Given the description of an element on the screen output the (x, y) to click on. 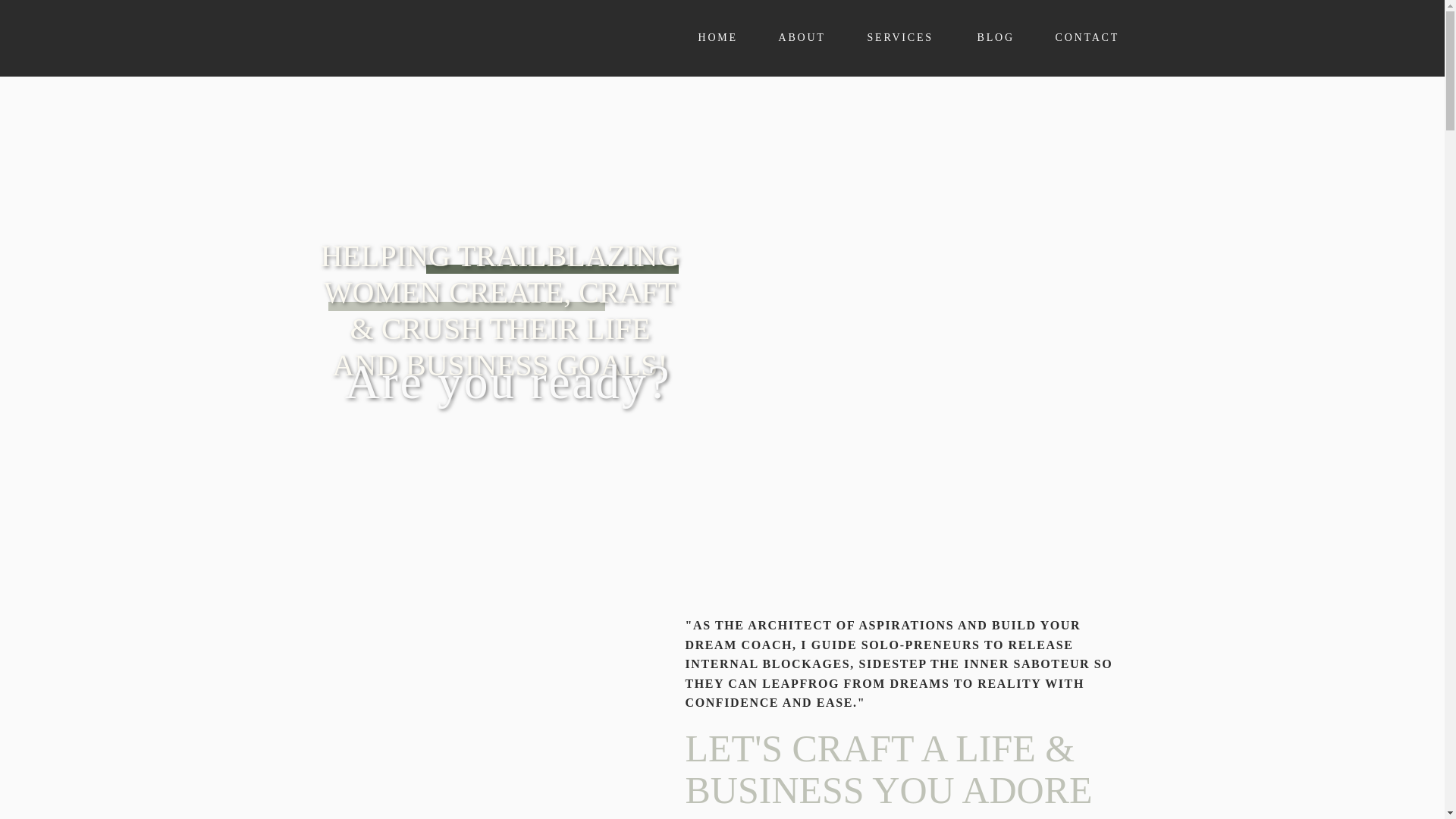
ABOUT (802, 37)
HOME (716, 37)
CONTACT (1088, 37)
BLOG (995, 37)
SERVICES (901, 37)
